Given the description of an element on the screen output the (x, y) to click on. 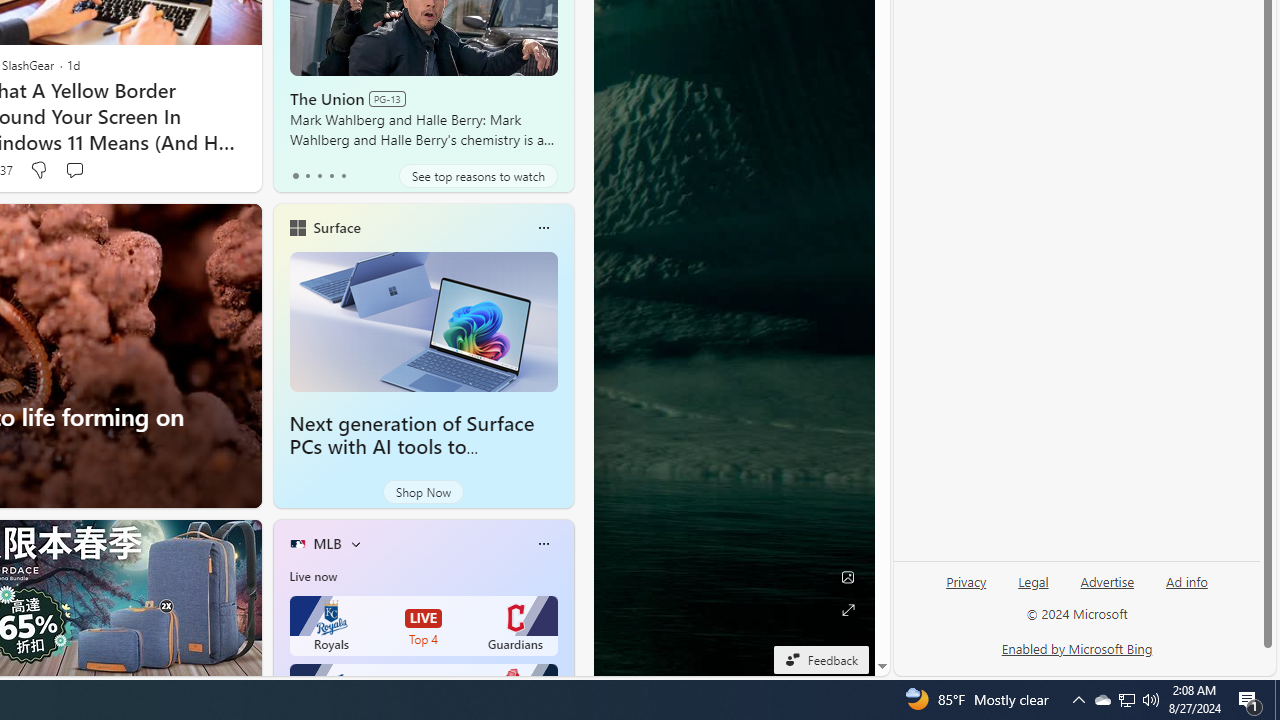
MLB (327, 543)
Expand background (847, 610)
See top reasons to watch (478, 175)
Surface (336, 227)
Royals LIVE Top 4 Guardians (423, 625)
